Given the description of an element on the screen output the (x, y) to click on. 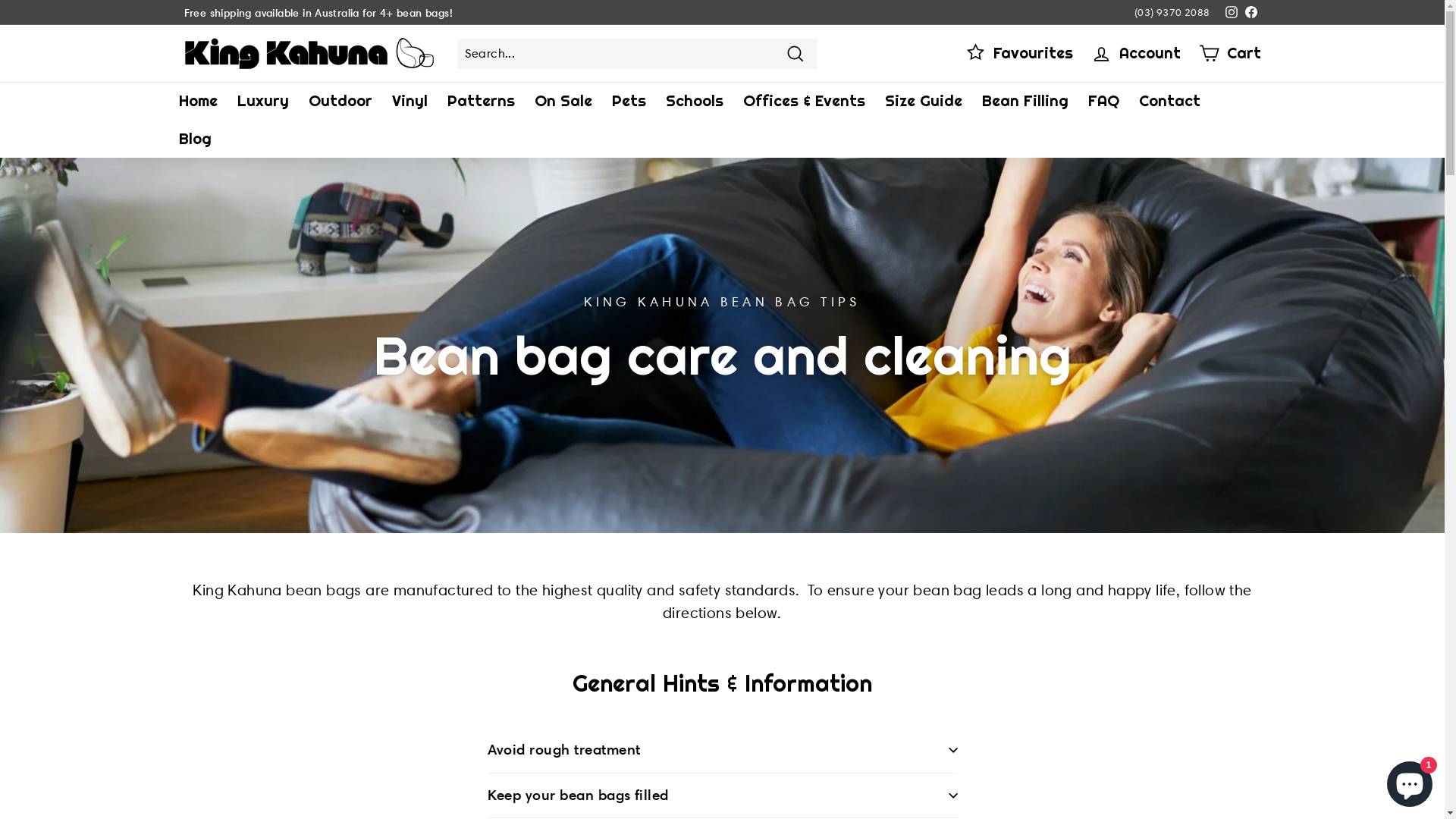
Instagram Element type: text (1230, 11)
(03) 9370 2088 Element type: text (1172, 11)
Blog Element type: text (194, 138)
Shopify online store chat Element type: hover (1409, 780)
FAQ Element type: text (1103, 100)
Account Element type: text (1135, 53)
Offices & Events Element type: text (803, 100)
Patterns Element type: text (480, 100)
Vinyl Element type: text (409, 100)
Schools Element type: text (693, 100)
On Sale Element type: text (563, 100)
Luxury Element type: text (262, 100)
Outdoor Element type: text (340, 100)
Avoid rough treatment Element type: text (721, 750)
Bean Filling Element type: text (1025, 100)
Pets Element type: text (628, 100)
Facebook Element type: text (1250, 11)
Size Guide Element type: text (923, 100)
Favourites Element type: text (1018, 53)
Skip to content Element type: text (0, 0)
Contact Element type: text (1168, 100)
Home Element type: text (197, 100)
